Given the description of an element on the screen output the (x, y) to click on. 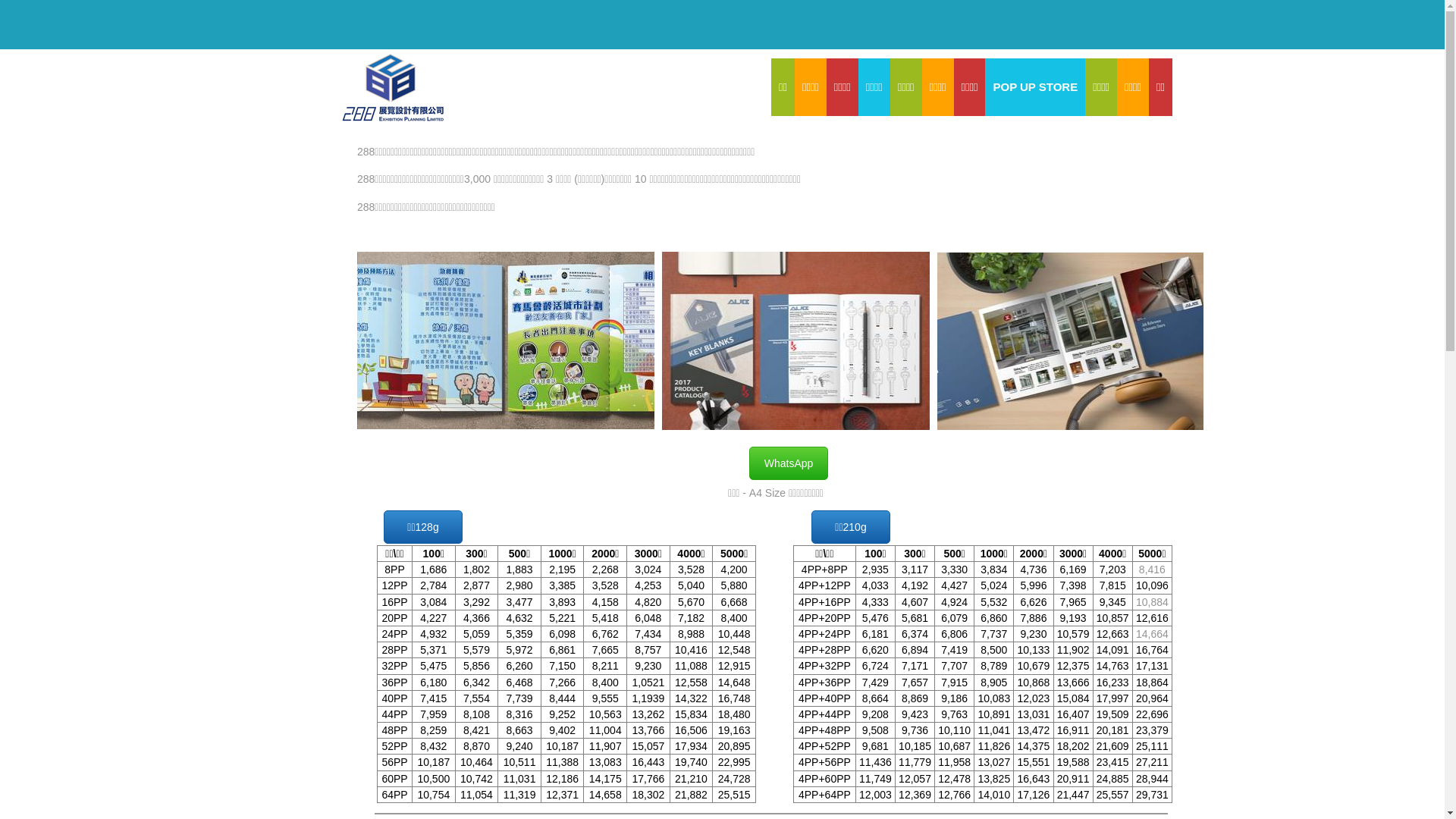
POP UP STORE Element type: text (1035, 87)
WhatsApp Element type: text (788, 463)
